Given the description of an element on the screen output the (x, y) to click on. 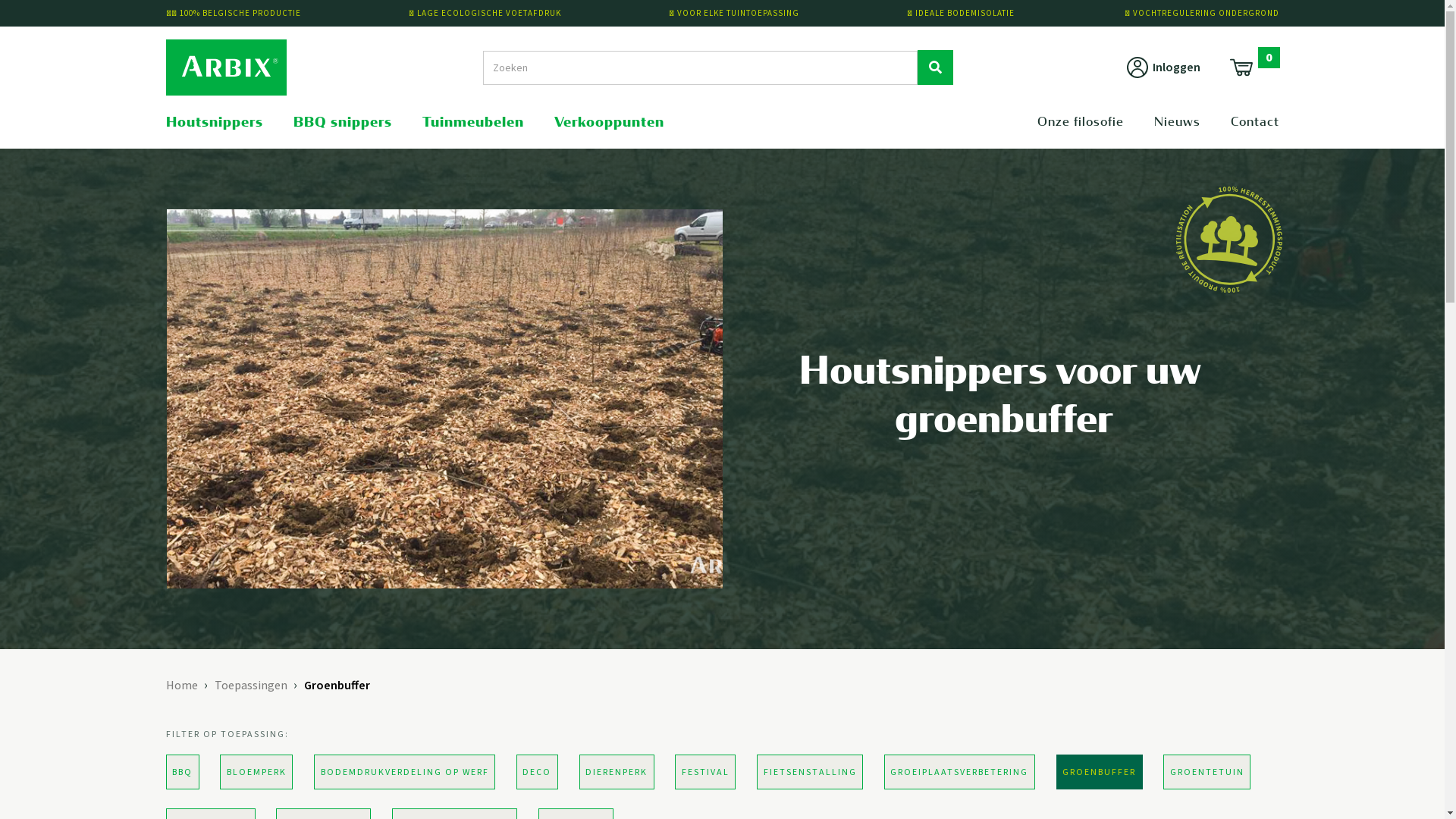
GROENBUFFER Element type: text (1098, 771)
Verkooppunten Element type: text (608, 121)
BLOEMPERK Element type: text (255, 771)
BBQ snippers Element type: text (341, 121)
Toepassingen Element type: text (249, 685)
FESTIVAL Element type: text (704, 771)
GROENTETUIN Element type: text (1206, 771)
Houtsnippers Element type: text (213, 121)
GROEIPLAATSVERBETERING Element type: text (959, 771)
Home Element type: text (181, 685)
Groenbuffer Element type: text (336, 685)
Inloggen Element type: text (1161, 67)
Nieuws Element type: text (1177, 121)
Contact Element type: text (1254, 121)
DIERENPERK Element type: text (616, 771)
0 Element type: text (1252, 67)
Onze filosofie Element type: text (1080, 121)
Tuinmeubelen Element type: text (472, 121)
BBQ Element type: text (181, 771)
DECO Element type: text (537, 771)
BODEMDRUKVERDELING OP WERF Element type: text (404, 771)
FIETSENSTALLING Element type: text (809, 771)
